Given the description of an element on the screen output the (x, y) to click on. 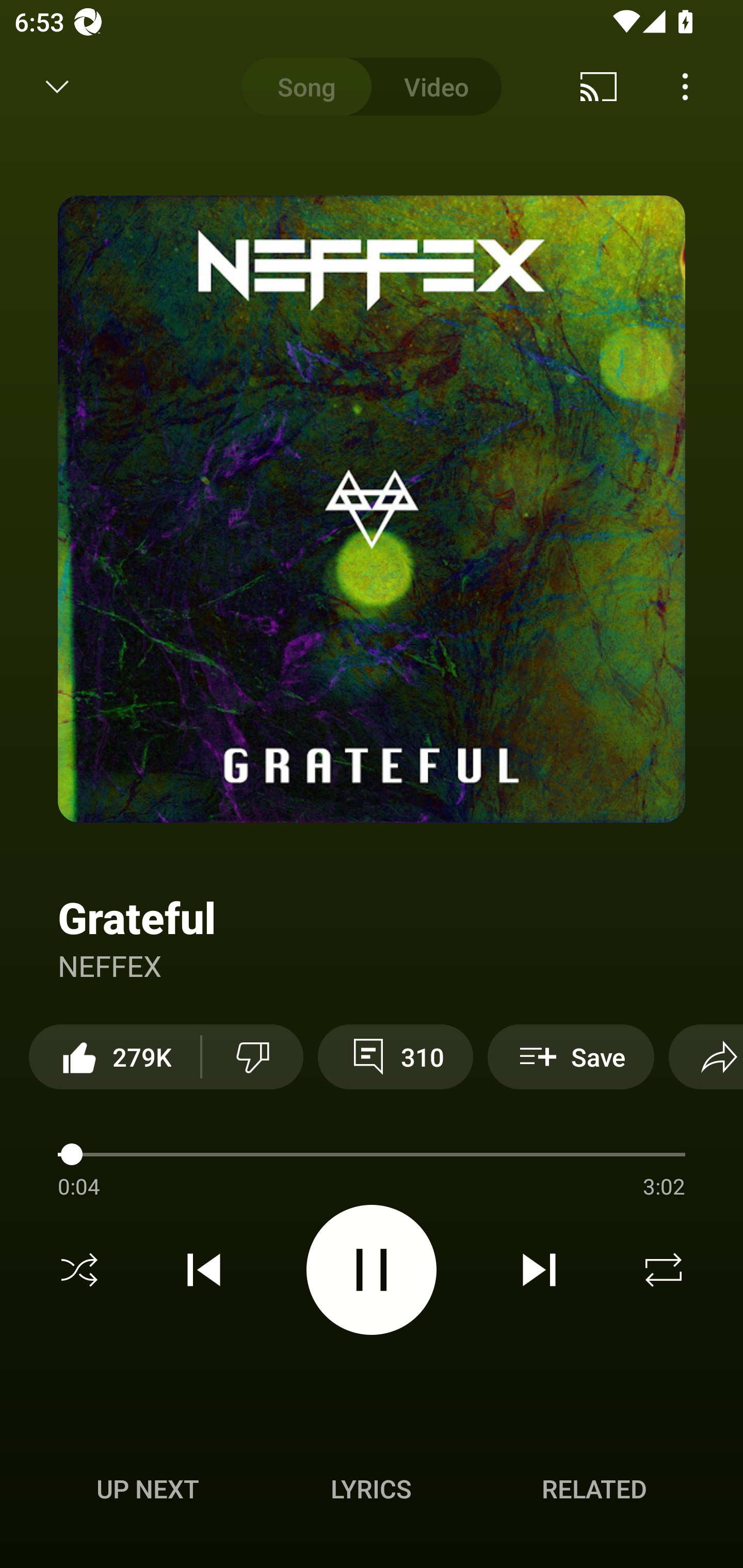
Minimize (57, 86)
Cast. Disconnected (598, 86)
Menu (684, 86)
Dislike (252, 1056)
310 View 310 comments (395, 1056)
Save Save to playlist (570, 1056)
Share (705, 1056)
Pause video (371, 1269)
Shuffle off (79, 1269)
Previous track (203, 1269)
Next track (538, 1269)
Repeat off (663, 1269)
Up next UP NEXT Lyrics LYRICS Related RELATED (371, 1491)
Lyrics LYRICS (370, 1488)
Related RELATED (594, 1488)
